Given the description of an element on the screen output the (x, y) to click on. 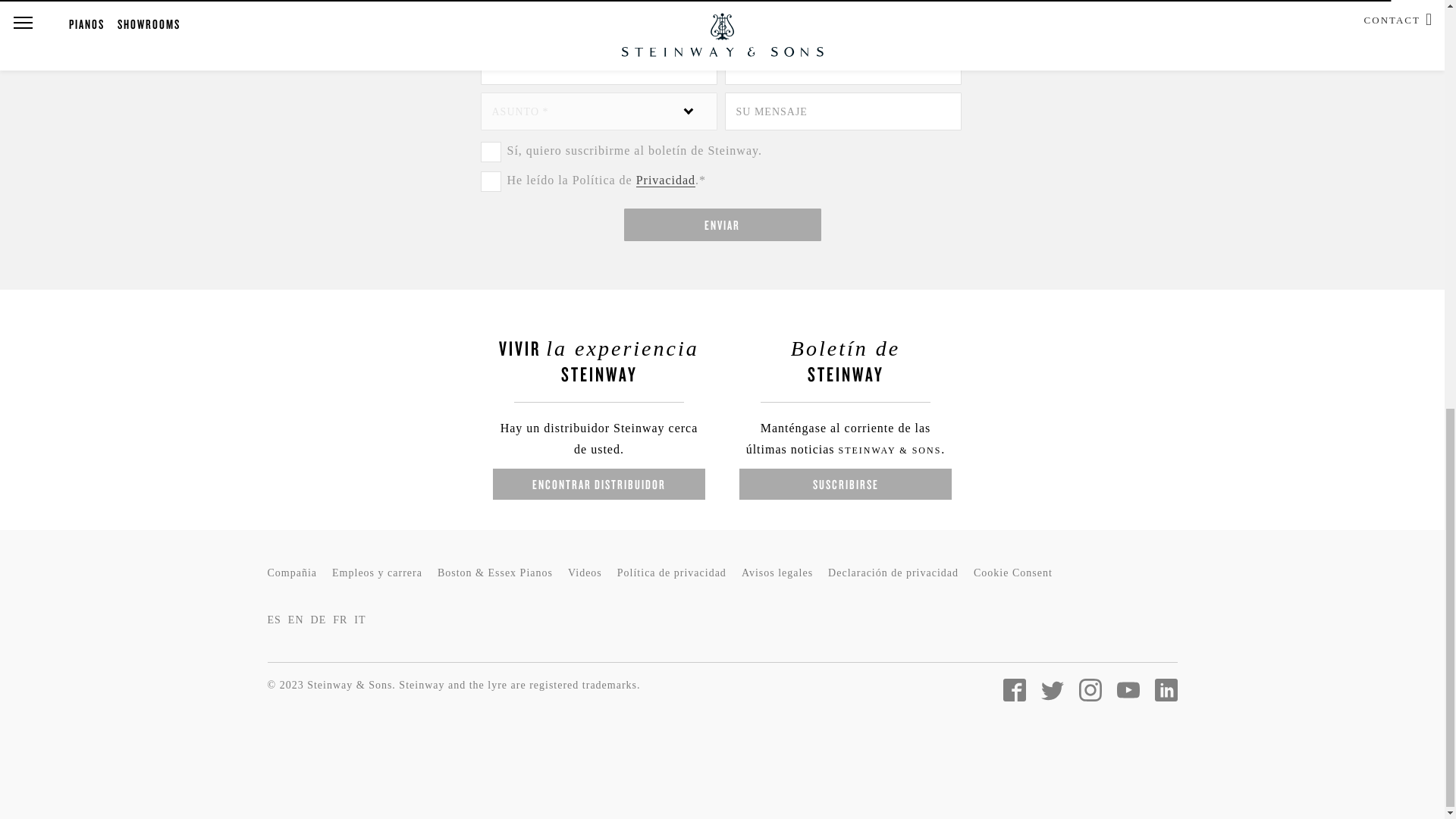
ENCONTRAR DISTRIBUIDOR (598, 483)
ENVIAR (722, 224)
Privacidad (665, 180)
Opens internal link in current window (665, 180)
